Given the description of an element on the screen output the (x, y) to click on. 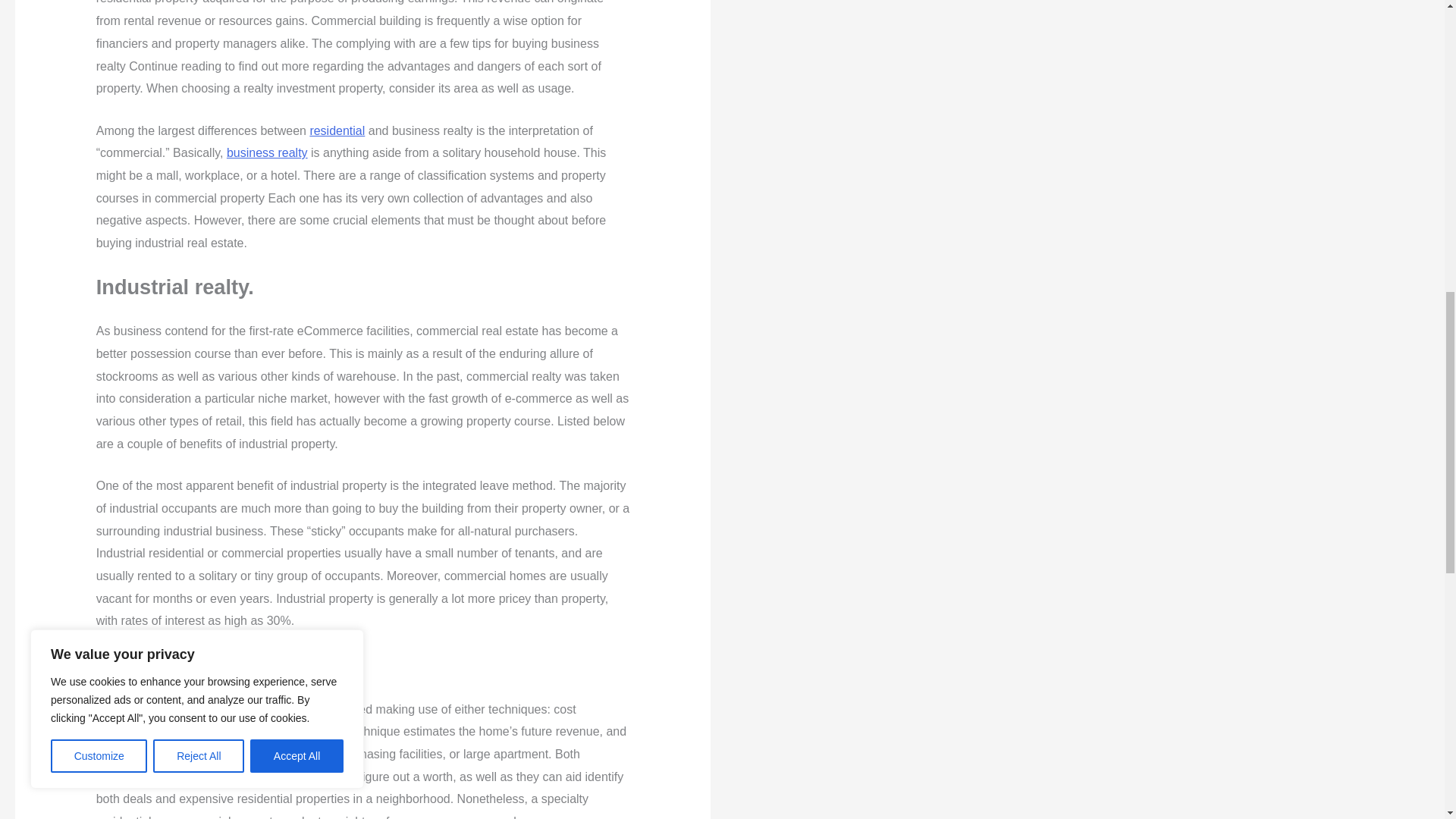
business realty (267, 152)
residential (336, 130)
revenue (572, 816)
